Given the description of an element on the screen output the (x, y) to click on. 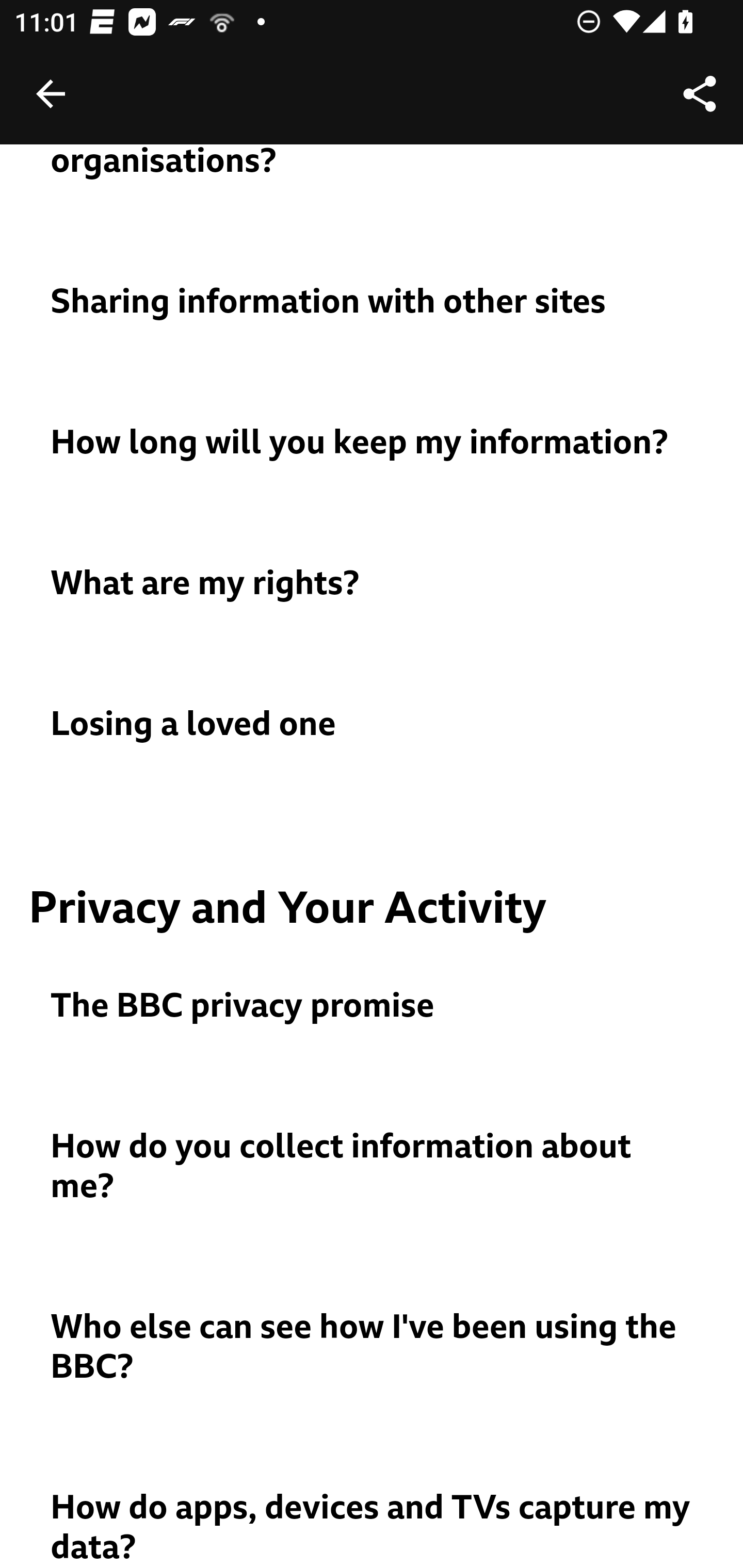
Back (50, 93)
Share (699, 93)
Sharing information with other sites (372, 302)
How long will you keep my information? (372, 442)
What are my rights? (372, 583)
Losing a loved one (372, 724)
The BBC privacy promise (372, 1006)
How do you collect information about me? (372, 1166)
Who else can see how I've been using the BBC? (372, 1347)
How do apps, devices and TVs capture my data? (372, 1528)
